Given the description of an element on the screen output the (x, y) to click on. 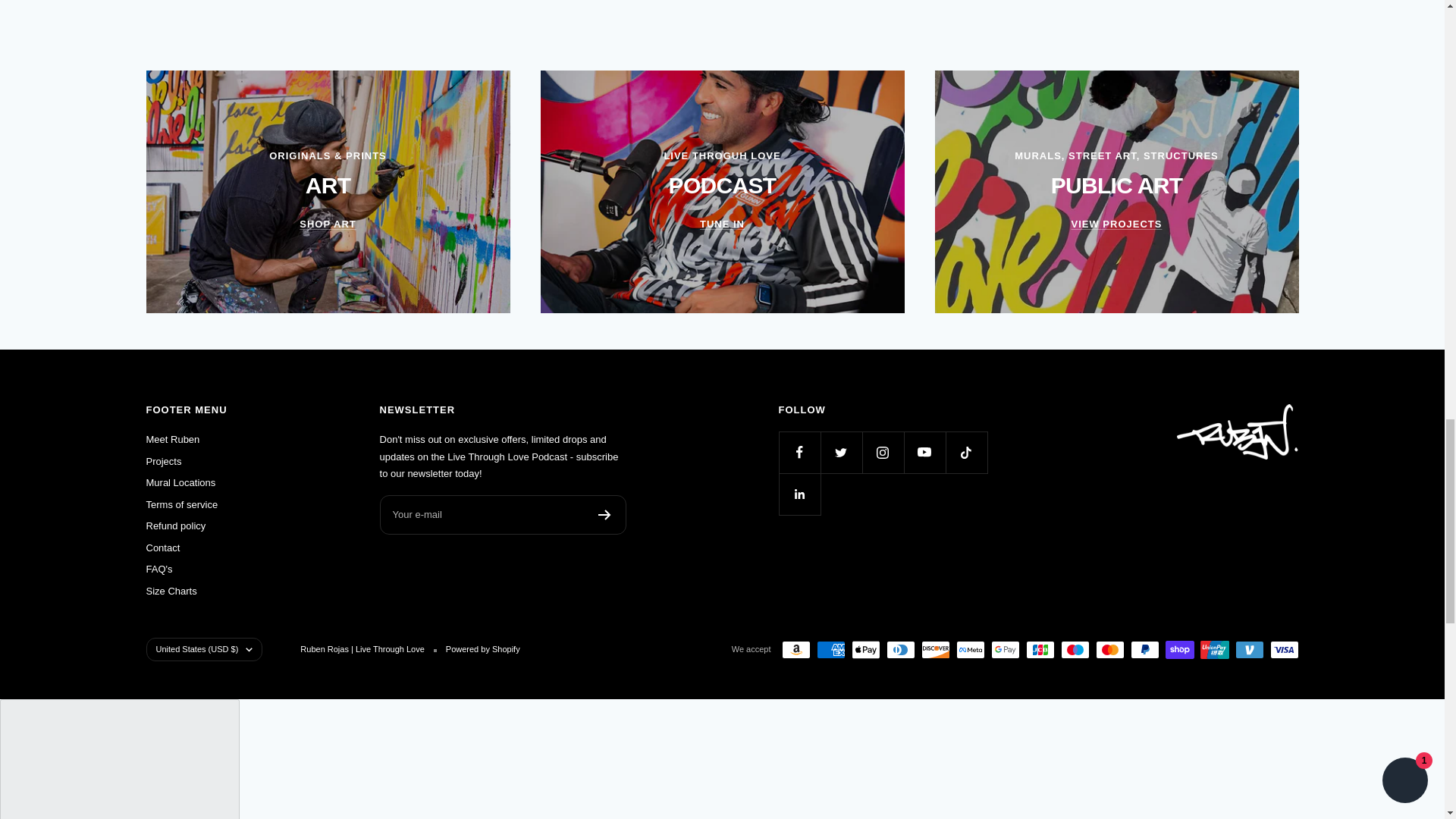
Register (604, 514)
